Given the description of an element on the screen output the (x, y) to click on. 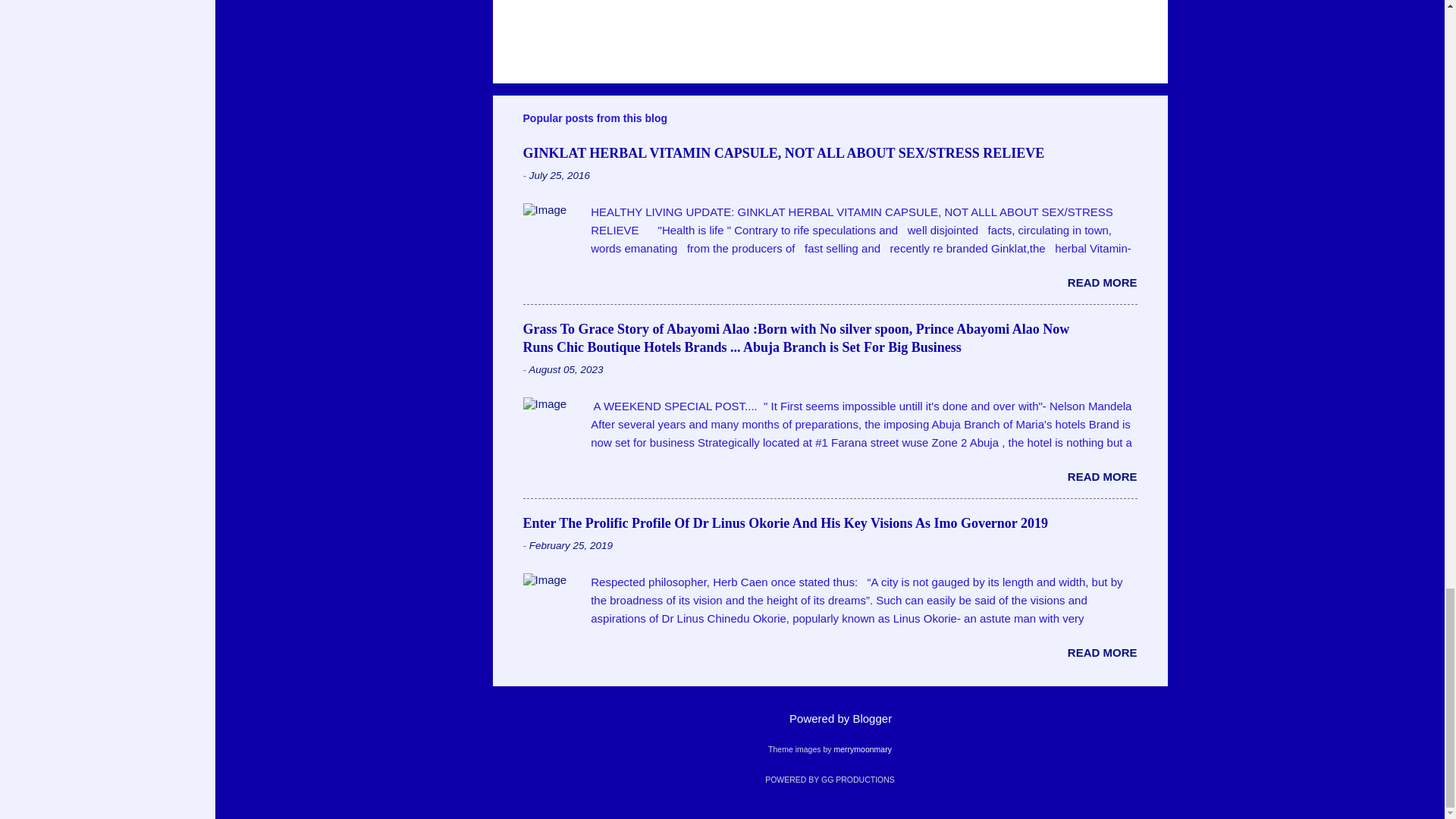
merrymoonmary (861, 748)
permanent link (559, 174)
Powered by Blogger (829, 717)
READ MORE (1102, 282)
August 05, 2023 (565, 369)
February 25, 2019 (570, 545)
July 25, 2016 (559, 174)
READ MORE (1102, 652)
READ MORE (1102, 476)
